Given the description of an element on the screen output the (x, y) to click on. 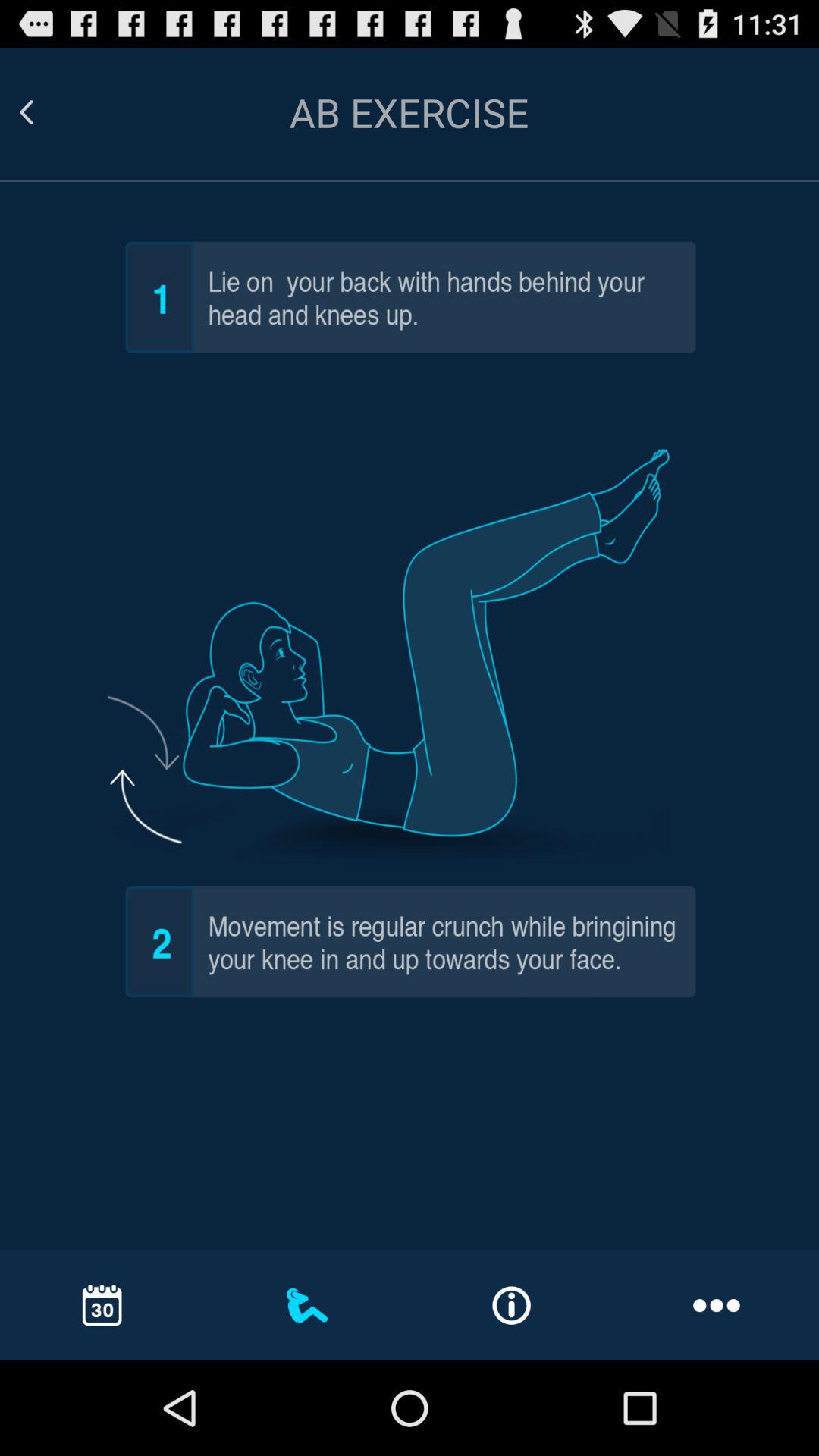
back button (44, 112)
